Given the description of an element on the screen output the (x, y) to click on. 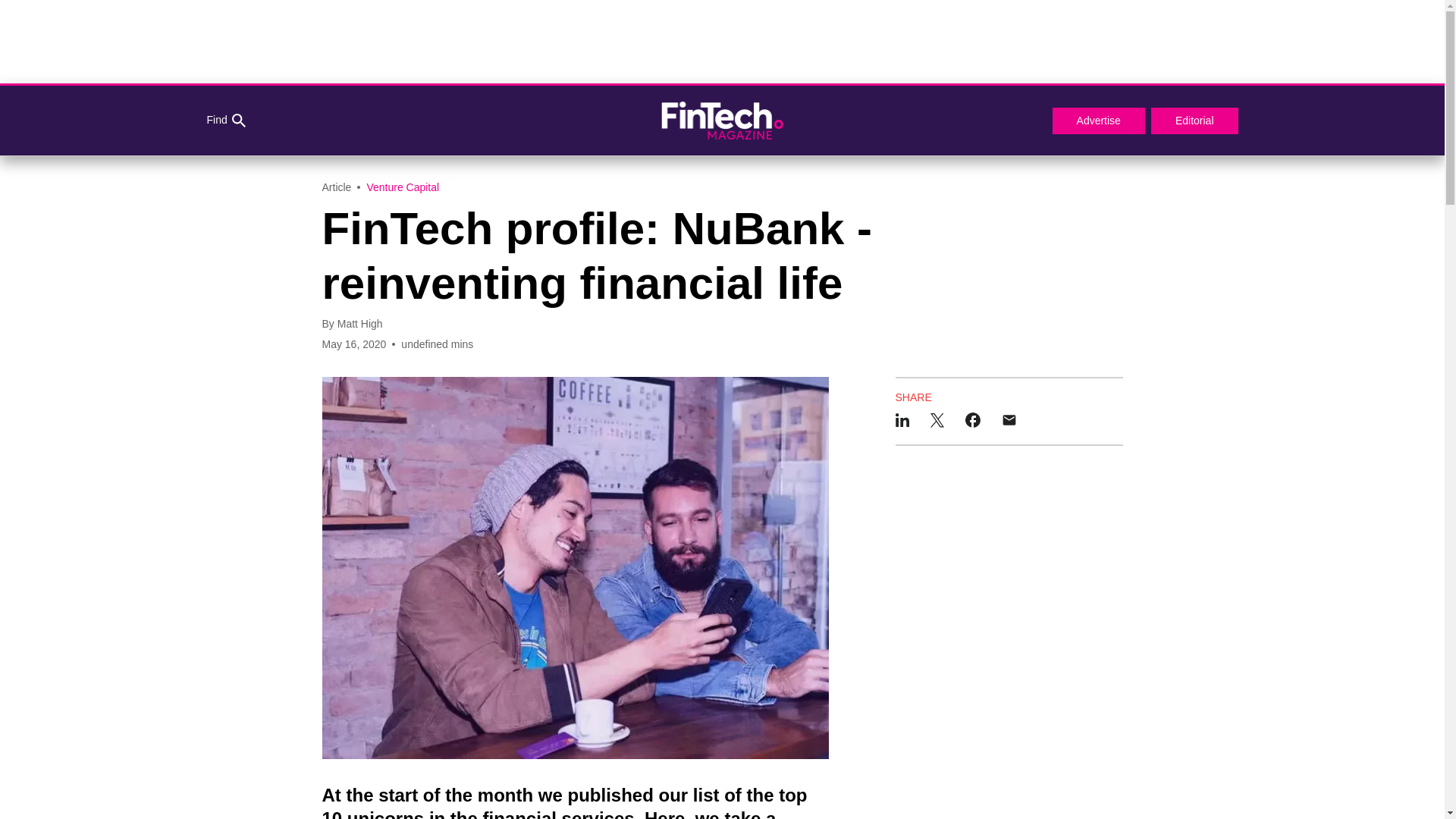
Advertise (1098, 121)
Editorial (1195, 121)
Find (225, 120)
